Given the description of an element on the screen output the (x, y) to click on. 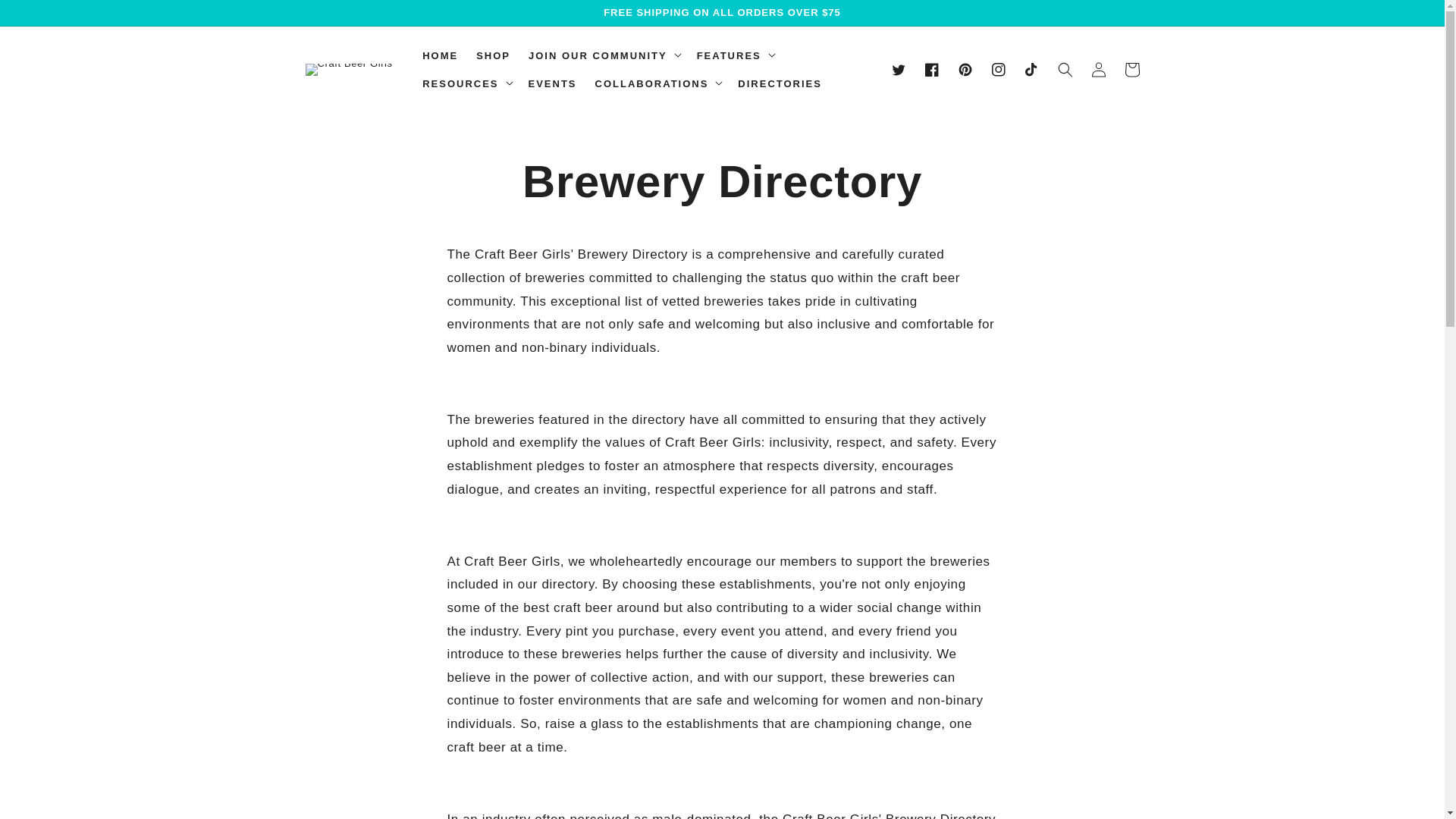
HOME (440, 55)
SHOP (493, 55)
Skip to content (7, 7)
